Given the description of an element on the screen output the (x, y) to click on. 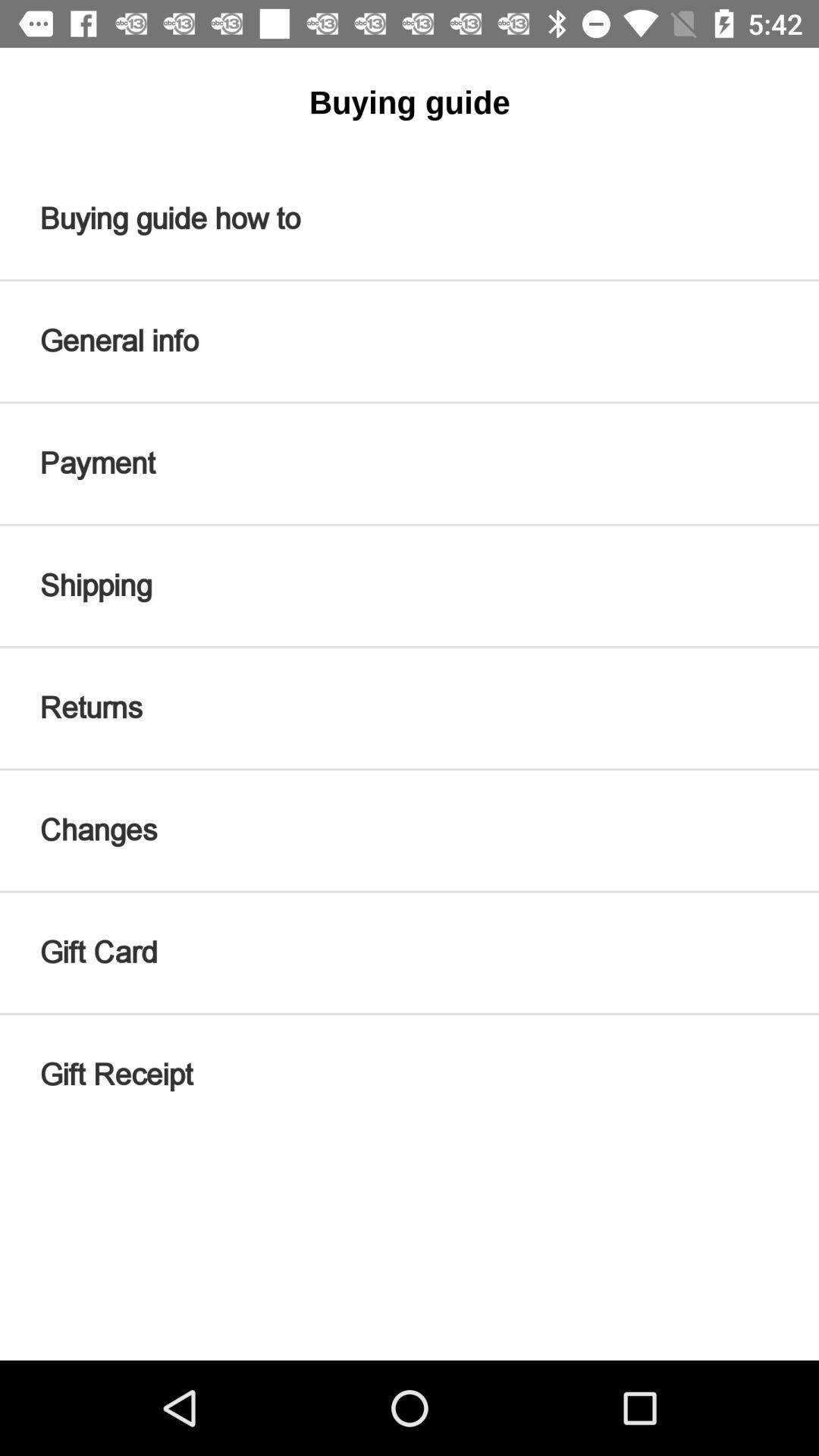
jump to the gift receipt (409, 1075)
